Given the description of an element on the screen output the (x, y) to click on. 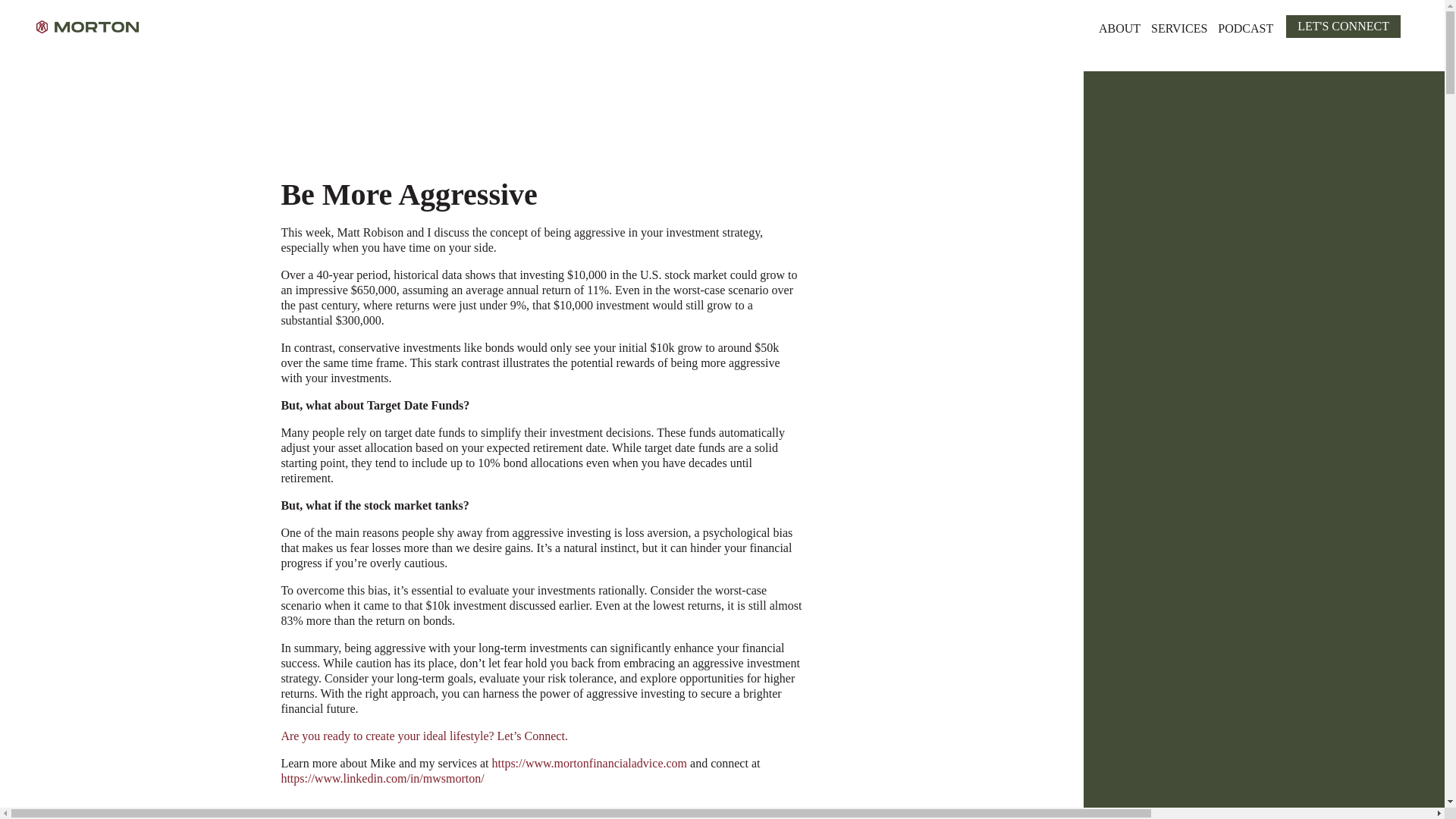
ABOUT (1119, 26)
LET'S CONNECT (1342, 26)
SERVICES (1178, 26)
PODCAST (1245, 26)
